Given the description of an element on the screen output the (x, y) to click on. 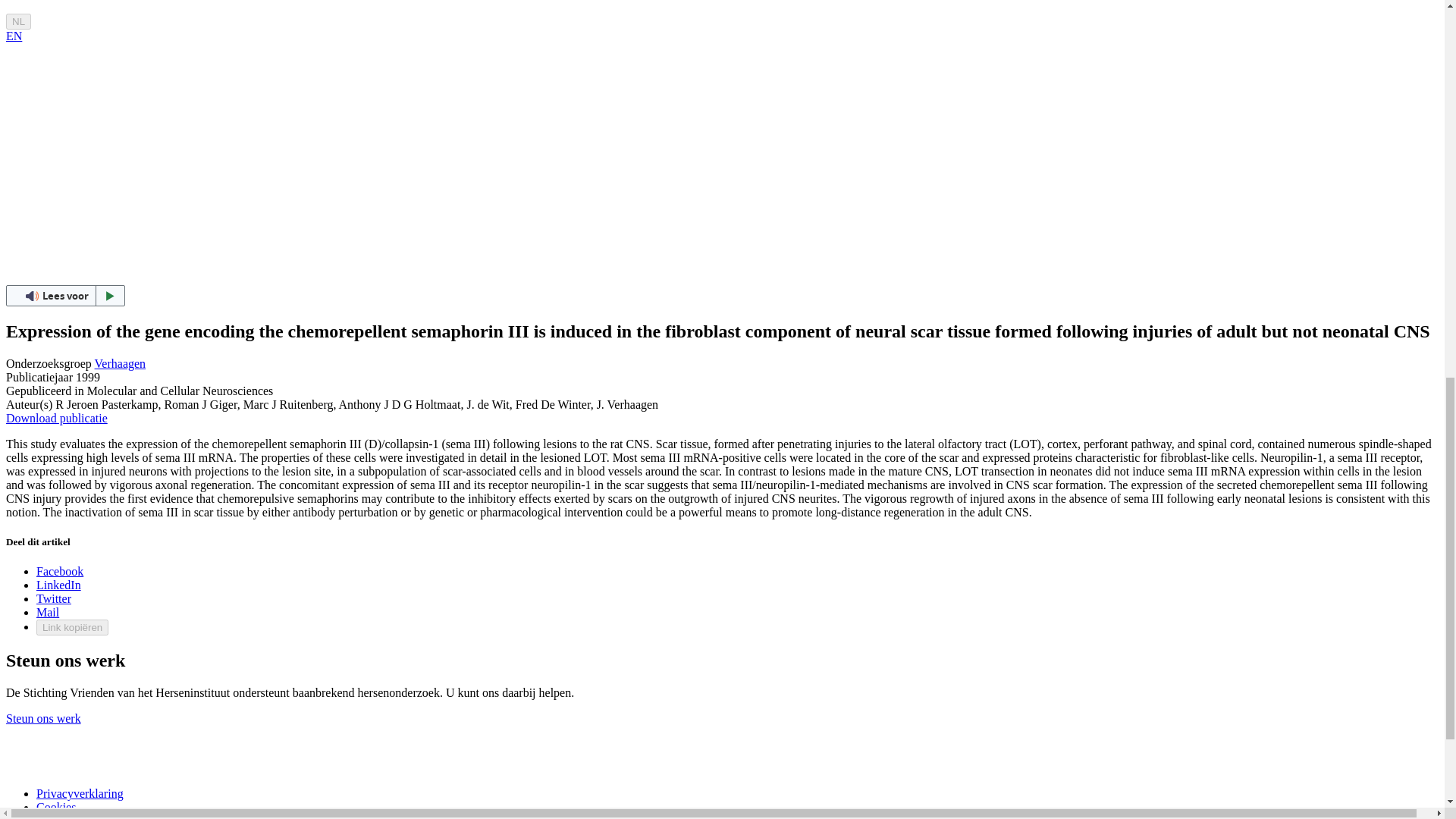
Share on Facebook (59, 571)
Tweet (53, 598)
Share via mail (47, 612)
Share on LinkedIn (58, 584)
Share link (71, 627)
Laat de tekst voorlezen met ReadSpeaker webReader (65, 295)
